Given the description of an element on the screen output the (x, y) to click on. 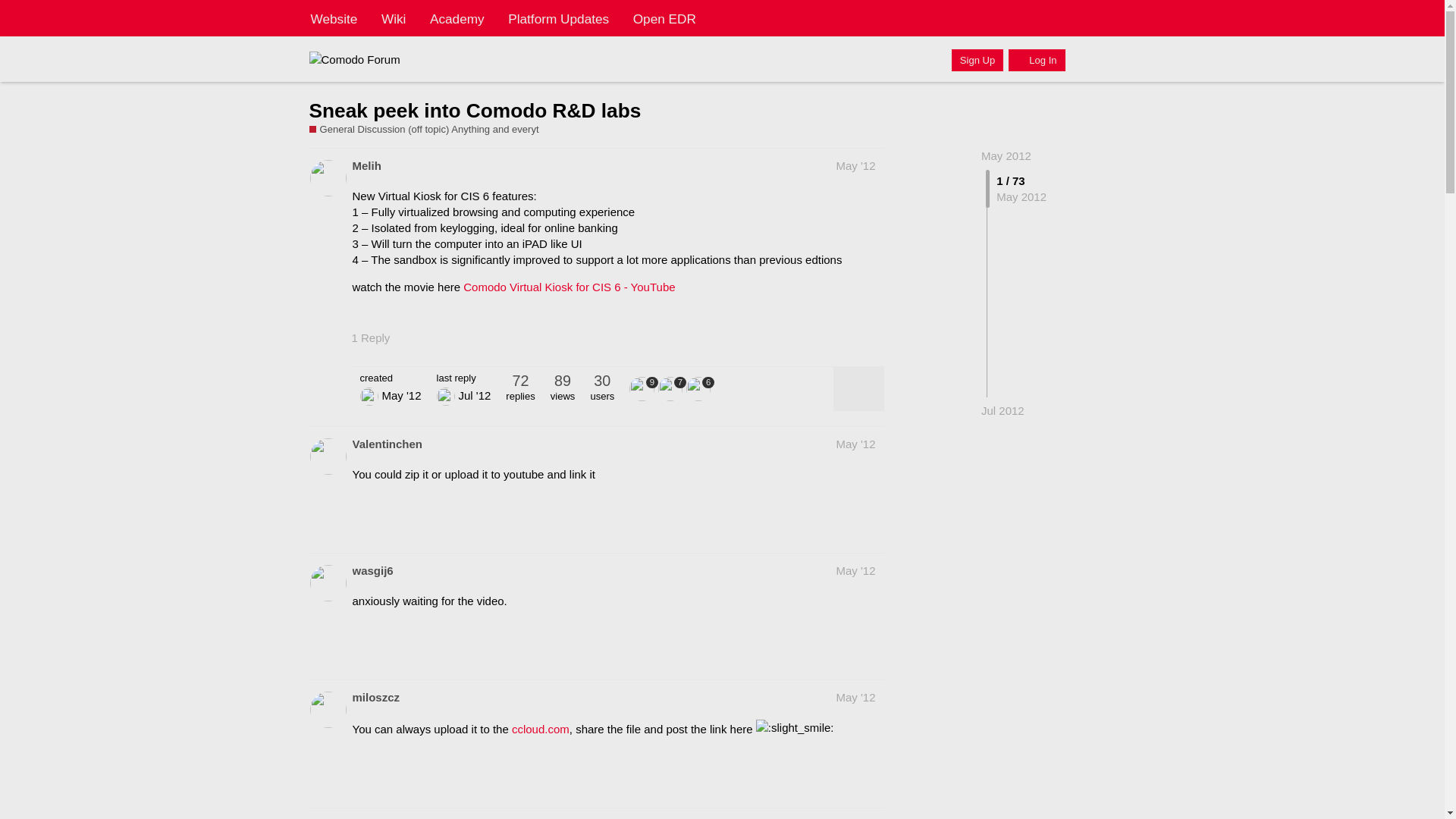
Platform Updates (558, 18)
May '12 (855, 164)
Website (333, 18)
7 (671, 388)
Sign Up (977, 60)
May '12 (855, 443)
Academy (456, 18)
Jul 25, 2012 10:34 pm (1003, 410)
last reply (464, 378)
Wiki (393, 18)
